Given the description of an element on the screen output the (x, y) to click on. 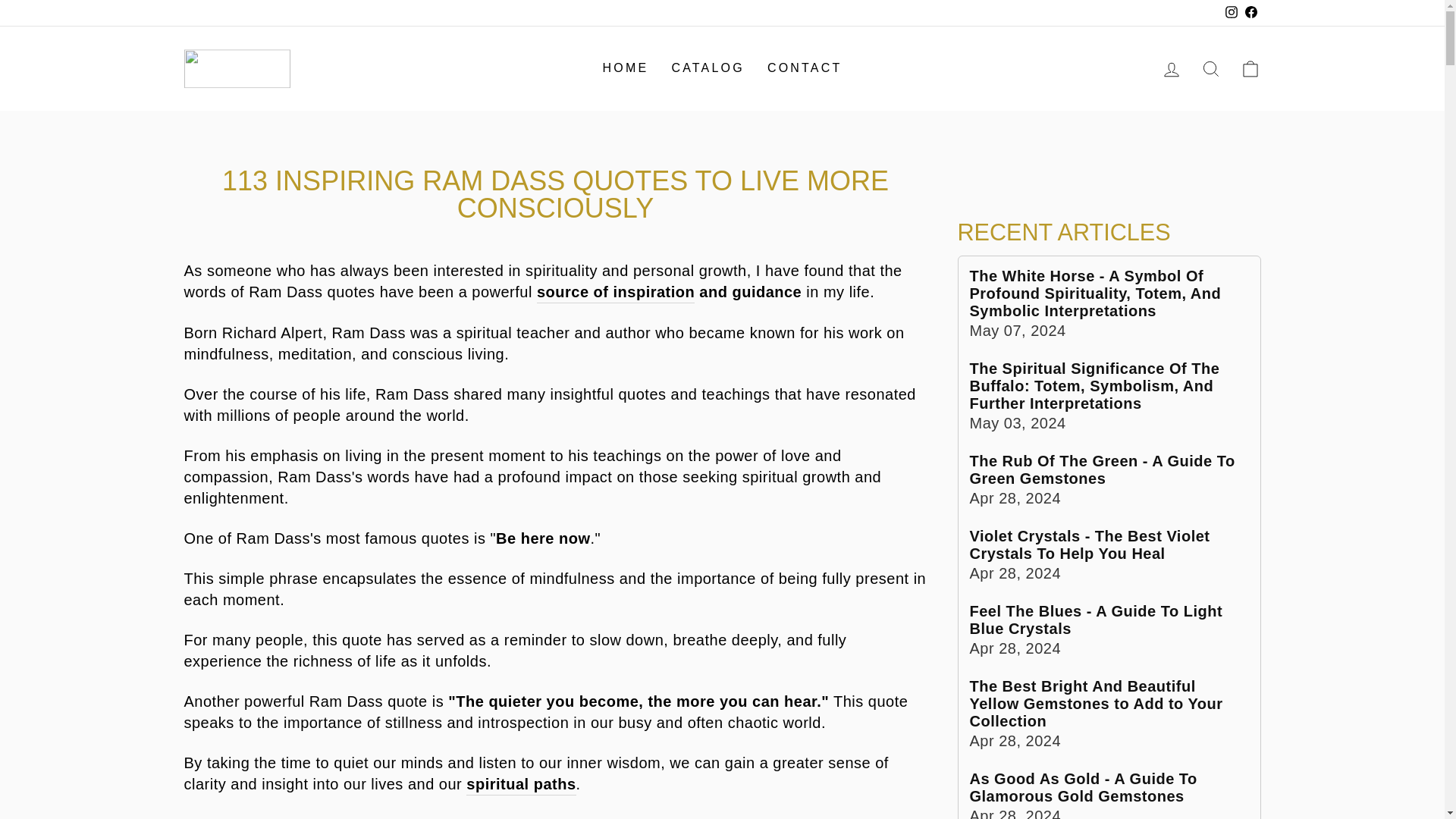
ICON-BAG-MINIMAL (1249, 67)
HOME (1249, 68)
spiritual paths (626, 68)
CATALOG (520, 784)
ICON-SEARCH (1210, 68)
source of inspiration (707, 68)
instagram (1210, 67)
